Given the description of an element on the screen output the (x, y) to click on. 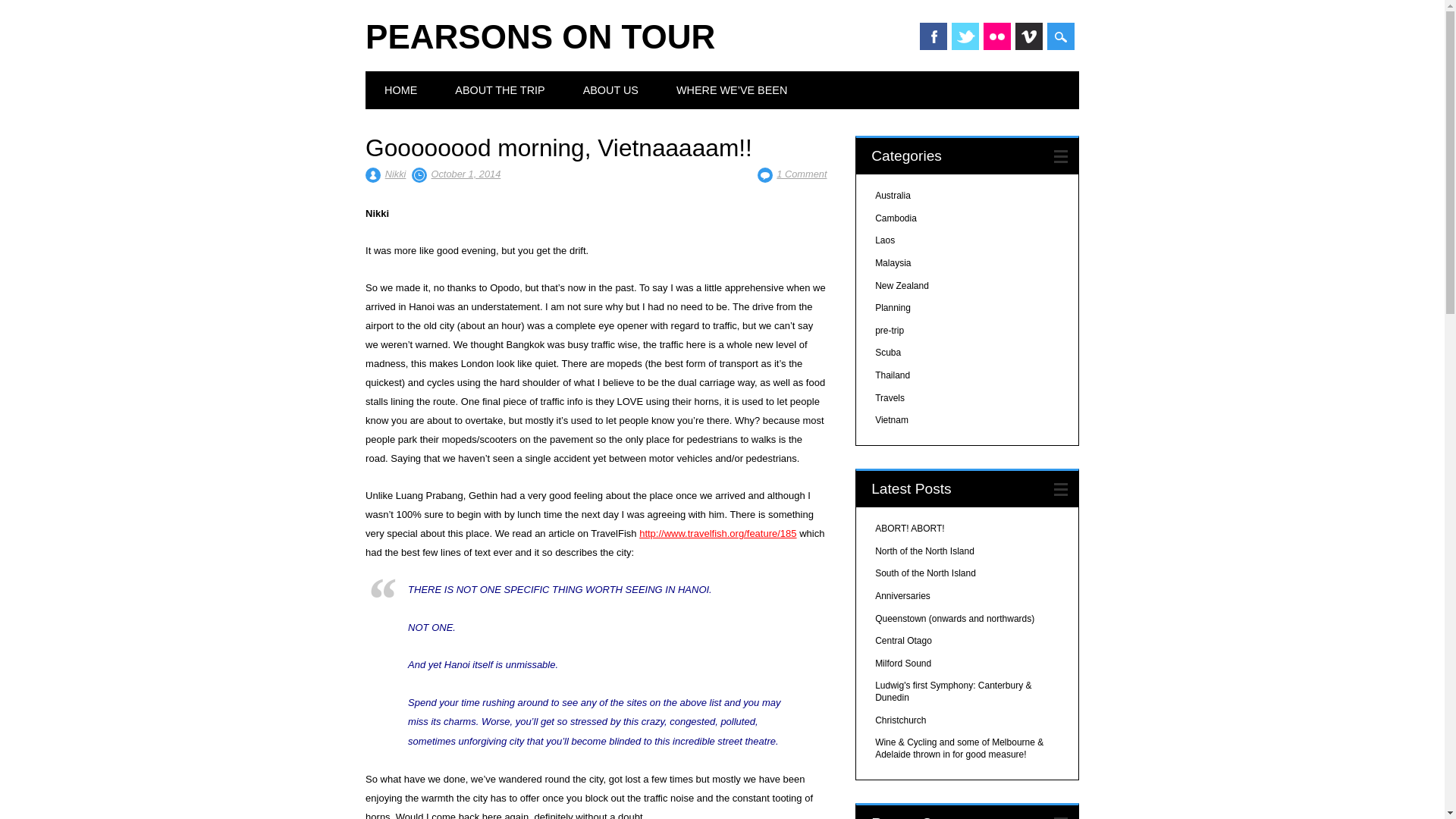
Cambodia (896, 217)
HOME (400, 89)
Instagram (997, 35)
New Zealand (901, 285)
Pearsons On Tour (539, 36)
Malaysia (893, 262)
View all posts by Nikki (395, 173)
pre-trip (889, 330)
Look North of the North Island (924, 551)
Twitter (965, 35)
